Given the description of an element on the screen output the (x, y) to click on. 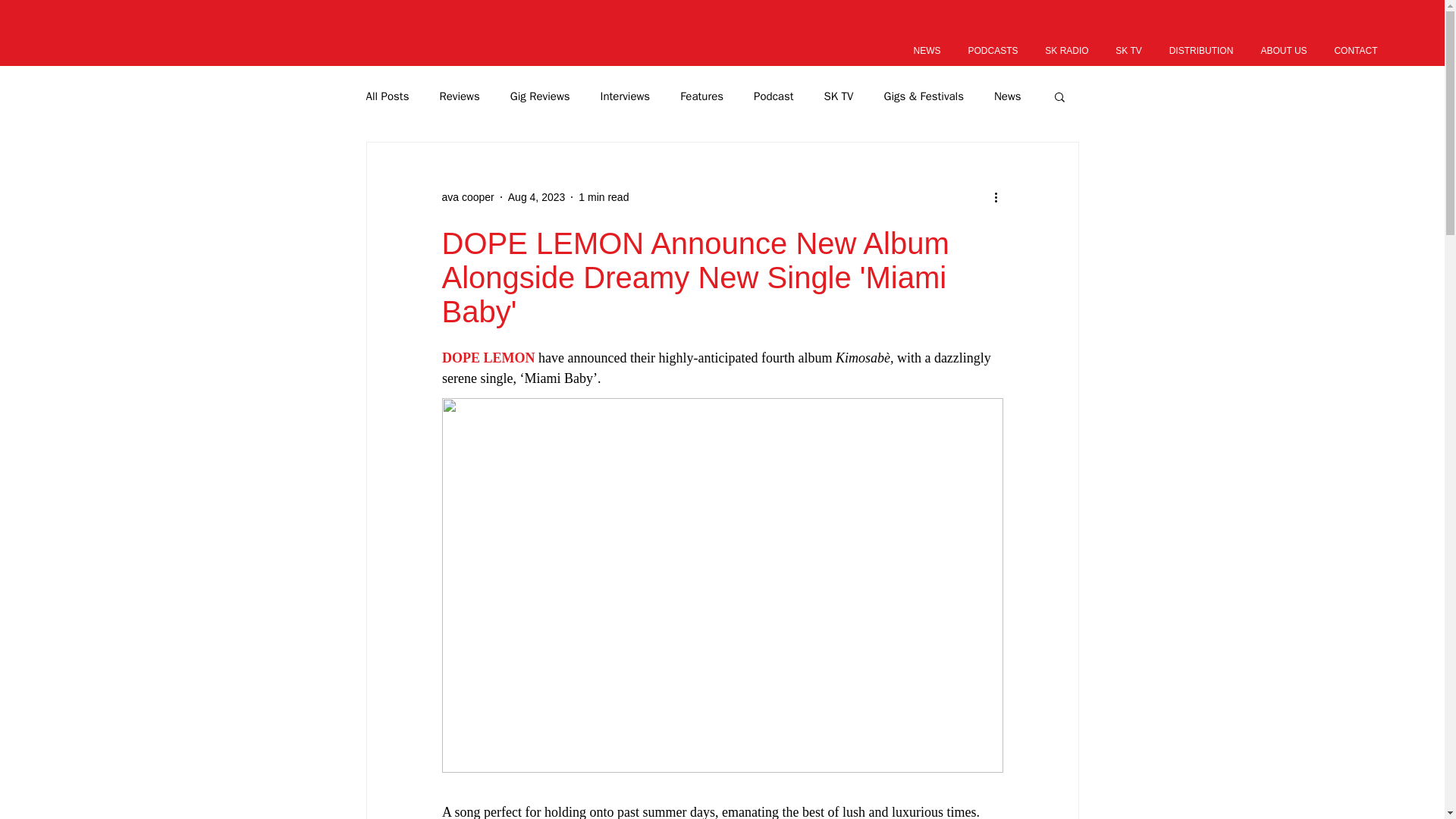
Gig Reviews (540, 96)
SK TV (1128, 50)
Features (701, 96)
News (1008, 96)
All Posts (387, 96)
1 min read (603, 196)
Podcast (773, 96)
PODCASTS (992, 50)
Interviews (624, 96)
Aug 4, 2023 (537, 196)
ABOUT US (1283, 50)
NEWS (926, 50)
SK RADIO (1067, 50)
ava cooper (467, 197)
CONTACT (1355, 50)
